Given the description of an element on the screen output the (x, y) to click on. 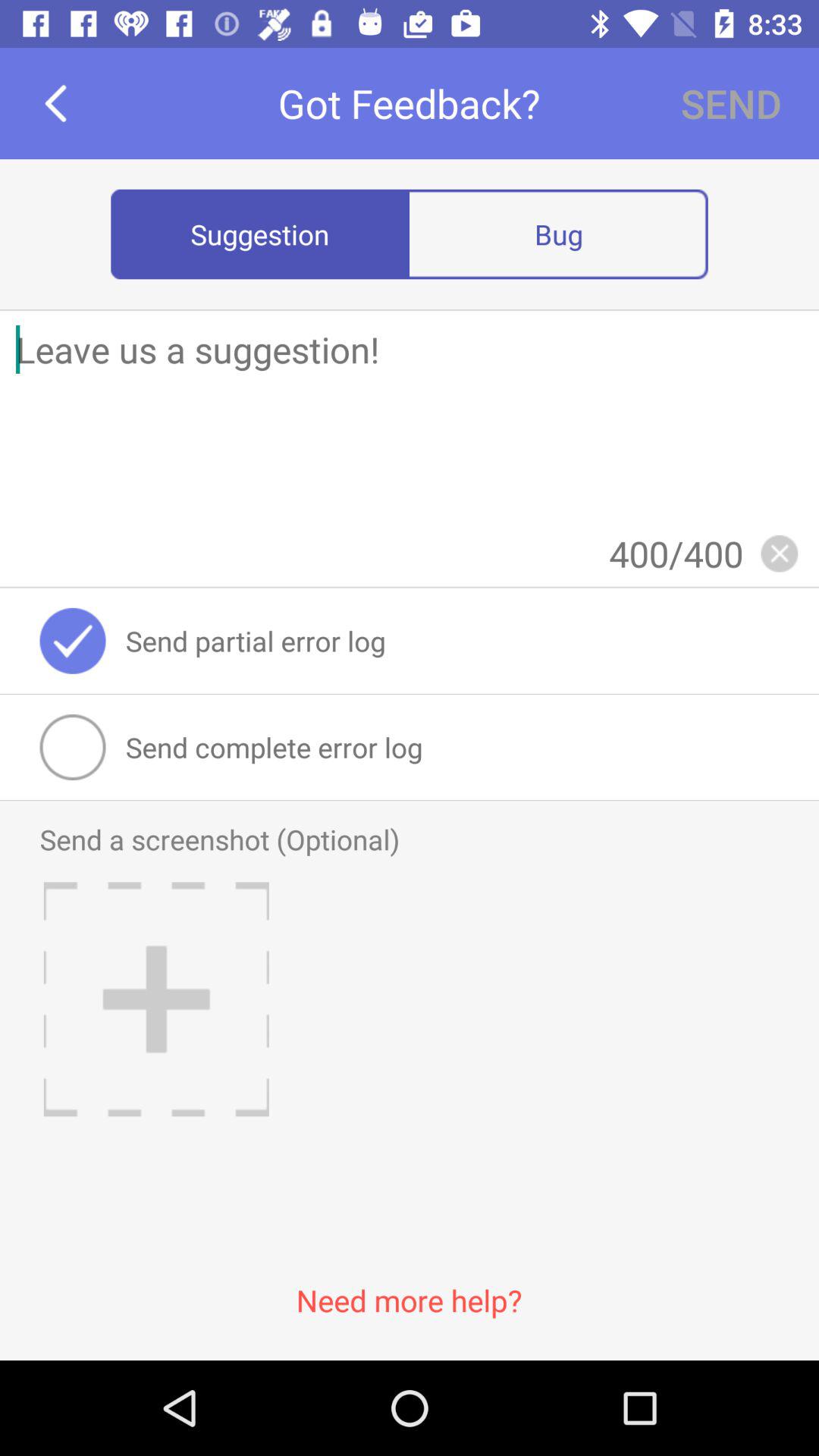
turn off item to the left of the bug icon (259, 234)
